Given the description of an element on the screen output the (x, y) to click on. 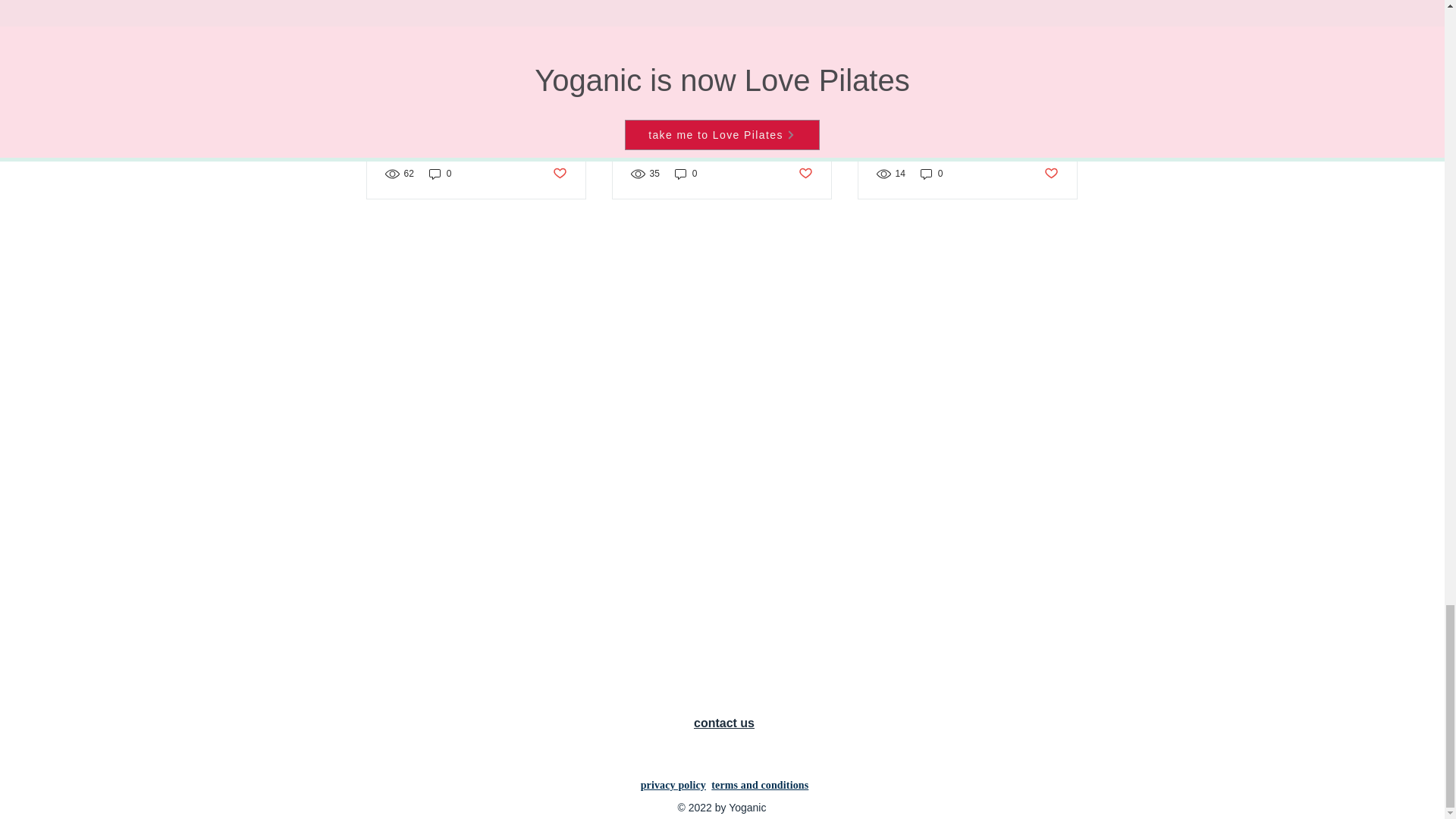
0 (440, 173)
0 (685, 173)
Breaking the mould: Why men should embrace yoga and Pilates (476, 120)
Post not marked as liked (558, 173)
Post not marked as liked (804, 173)
